Given the description of an element on the screen output the (x, y) to click on. 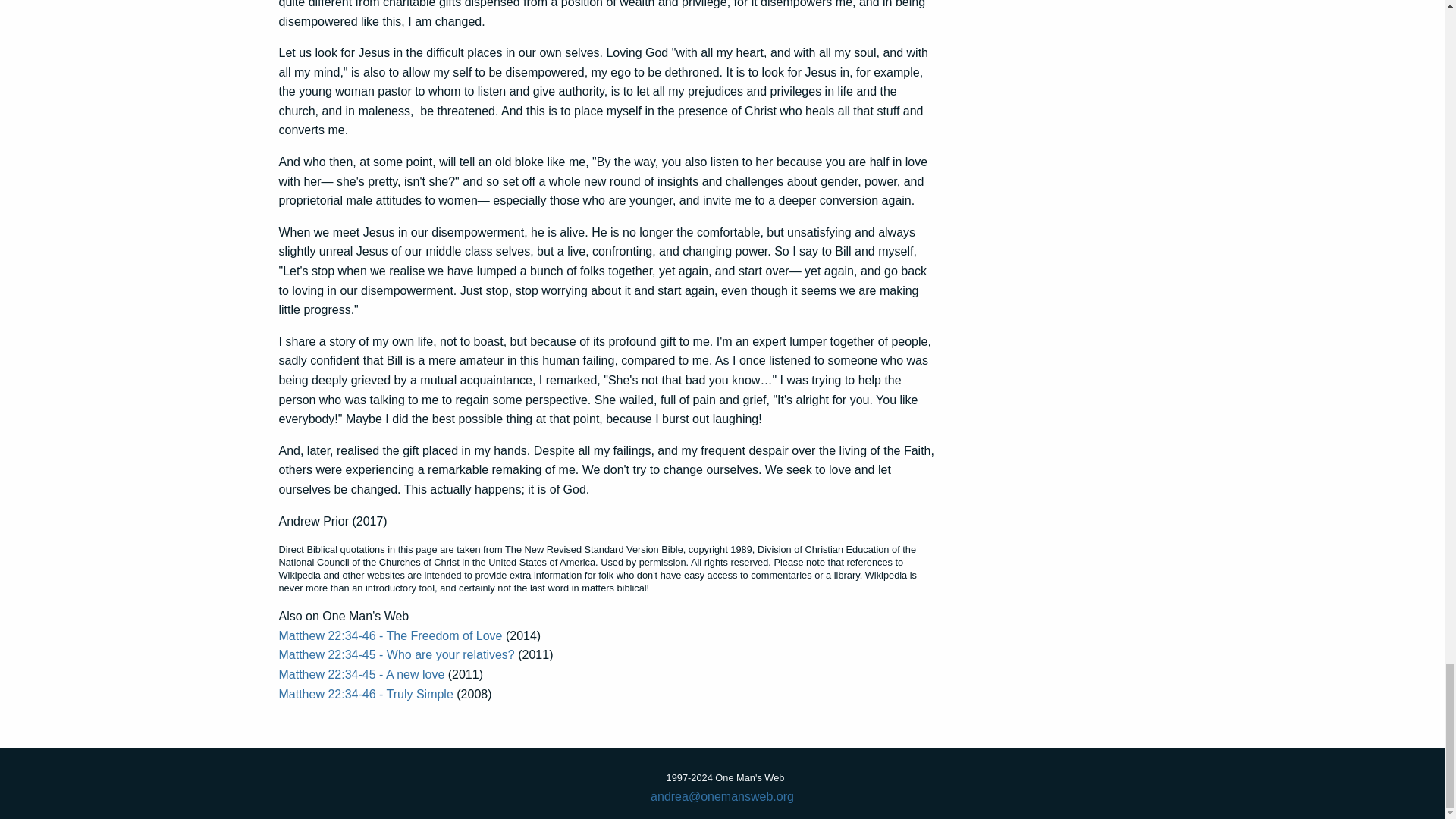
Matthew 22:34-46 - Truly Simple (365, 694)
Matthew 22:34-46 - The Freedom of Love (390, 635)
Matthew 22:34-45 - Who are your relatives? (397, 654)
Matthew 22:34-45 - A new love (362, 674)
